Given the description of an element on the screen output the (x, y) to click on. 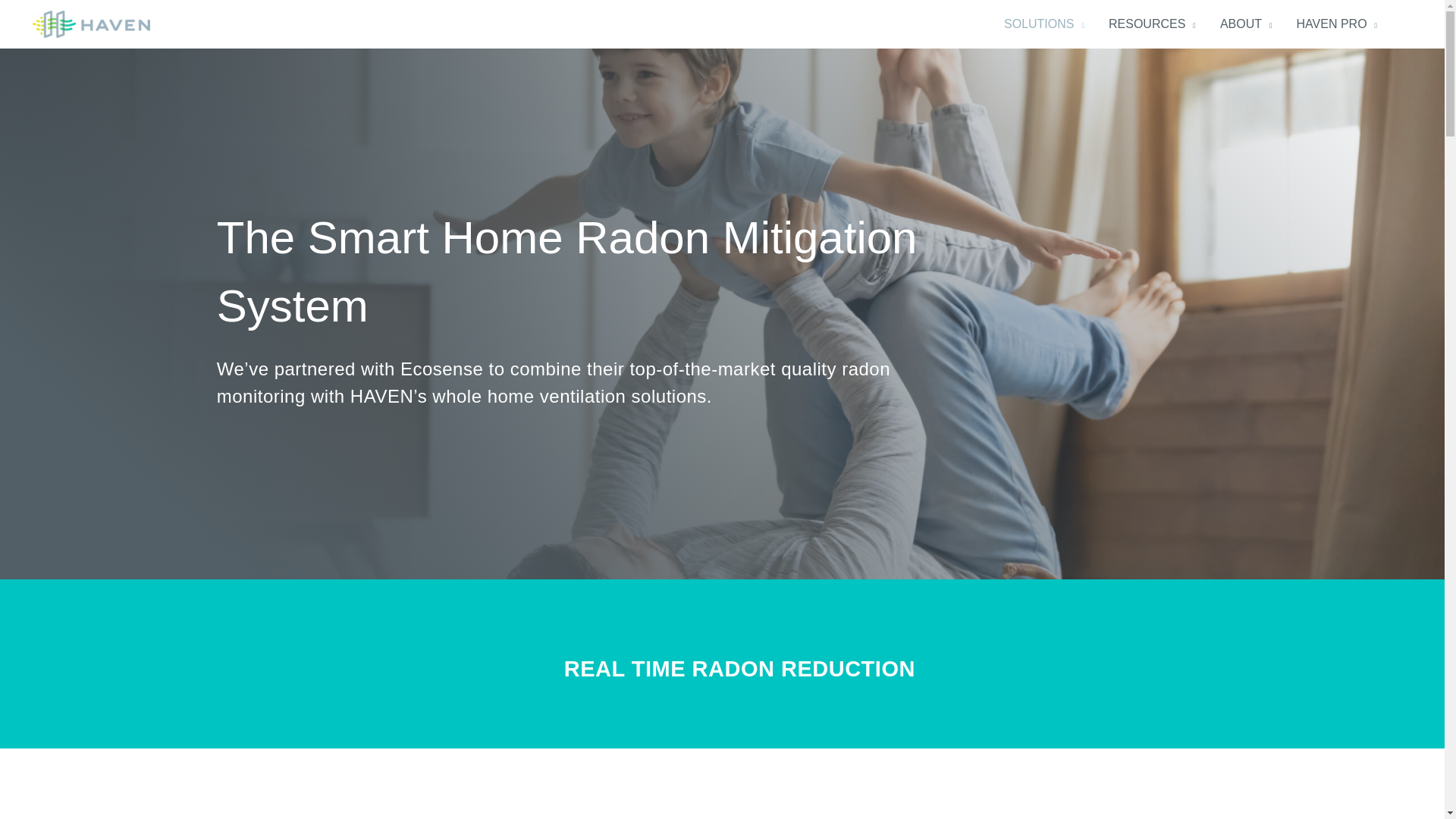
SOLUTIONS (1043, 24)
ABOUT (1246, 24)
HAVEN PRO (1337, 24)
RESOURCES (1152, 24)
